Given the description of an element on the screen output the (x, y) to click on. 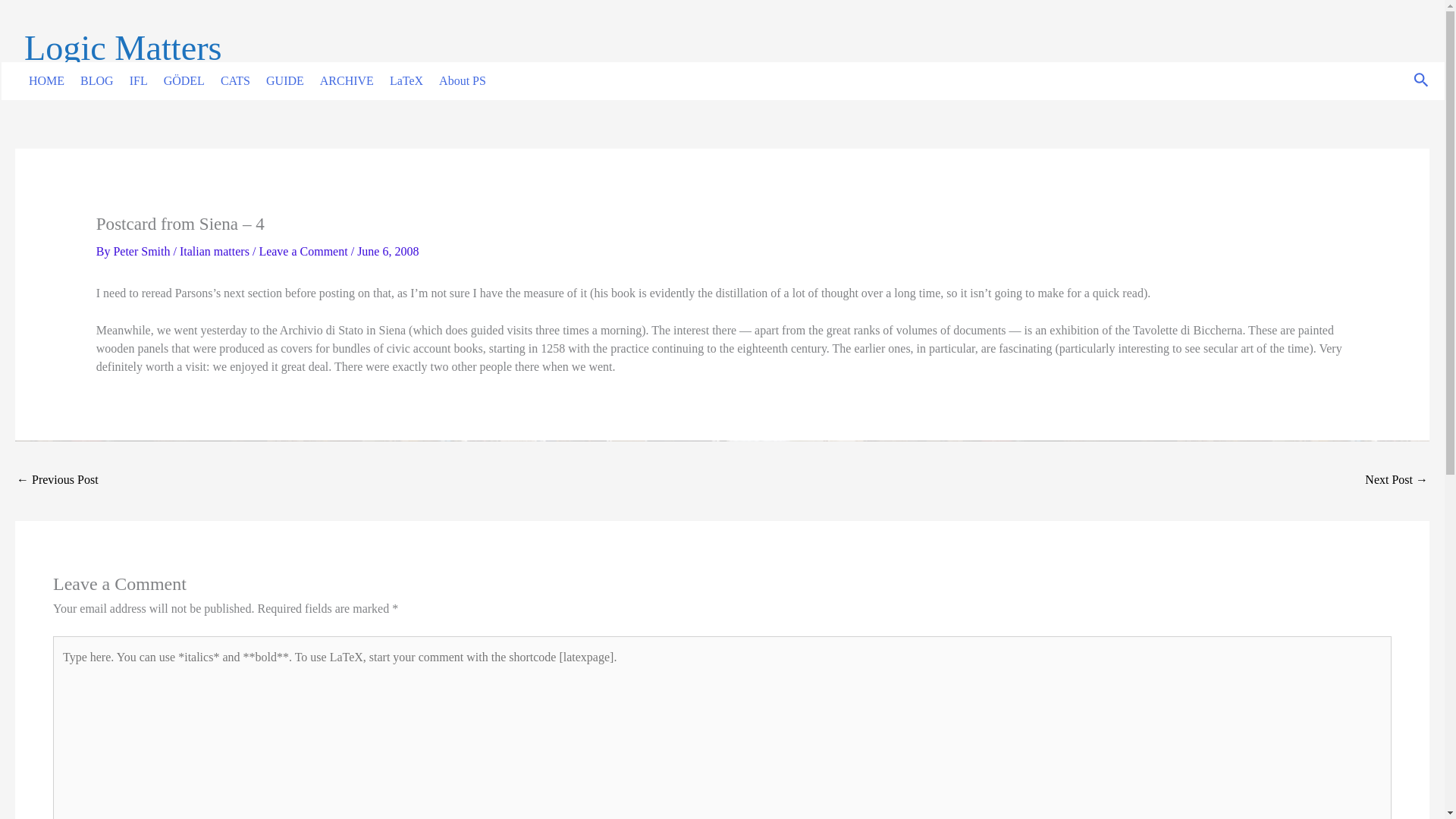
ARCHIVE (342, 80)
Leave a Comment (303, 250)
BLOG (92, 80)
Parsons's Mathematical Thought: Sec. 5 (1396, 480)
About PS (457, 80)
Peter Smith (143, 250)
HOME (42, 80)
Search (1421, 81)
Italian matters (213, 250)
IFL (134, 80)
Postcard from Siena - 3 (57, 480)
Logic Matters (123, 47)
CATS (230, 80)
GUIDE (280, 80)
